Given the description of an element on the screen output the (x, y) to click on. 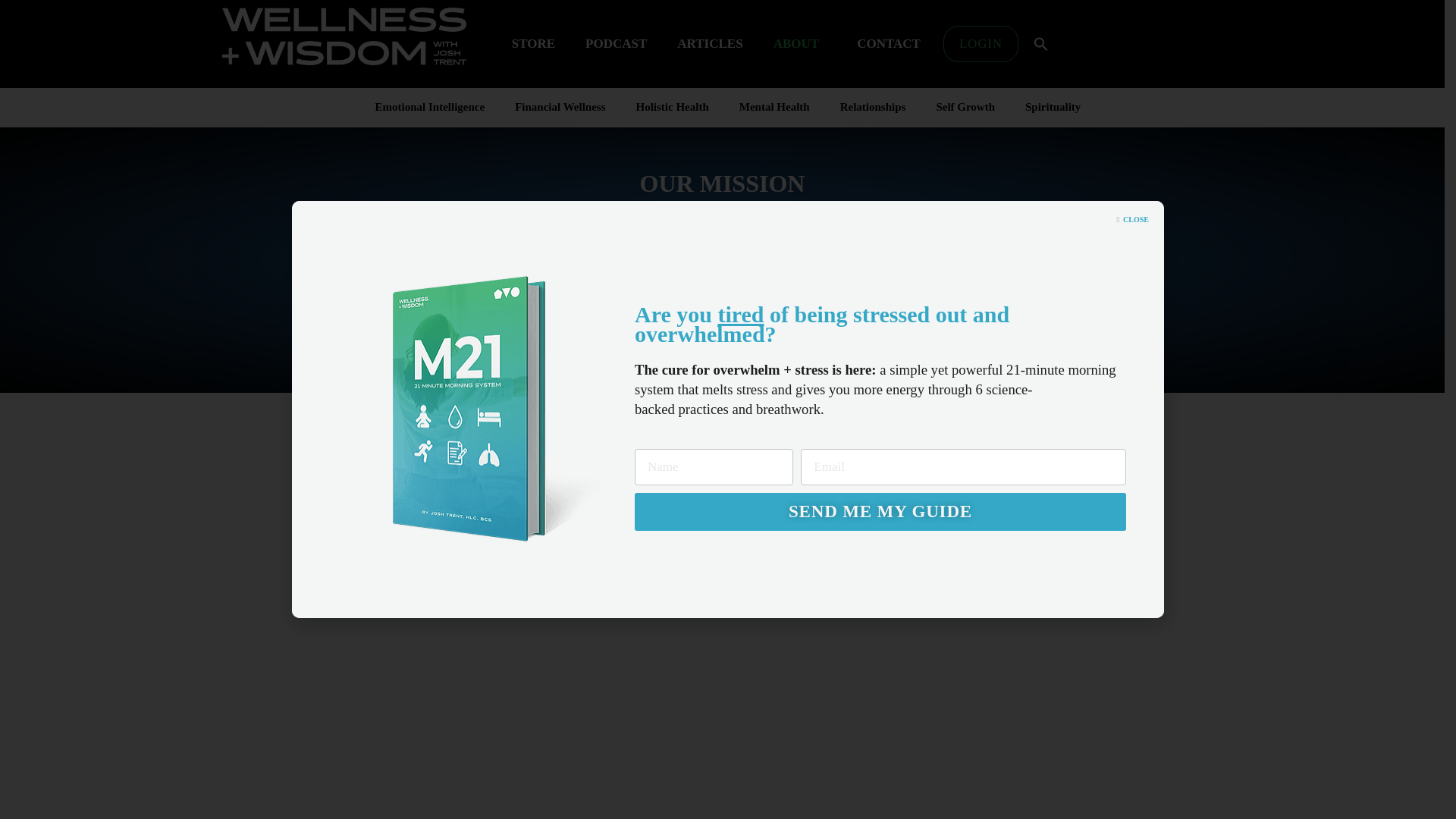
ARTICLES (709, 43)
LOGIN (980, 43)
Wellness Wisdom White White (343, 36)
STORE (533, 43)
CONTACT (892, 43)
ABOUT (799, 43)
PODCAST (616, 43)
